Given the description of an element on the screen output the (x, y) to click on. 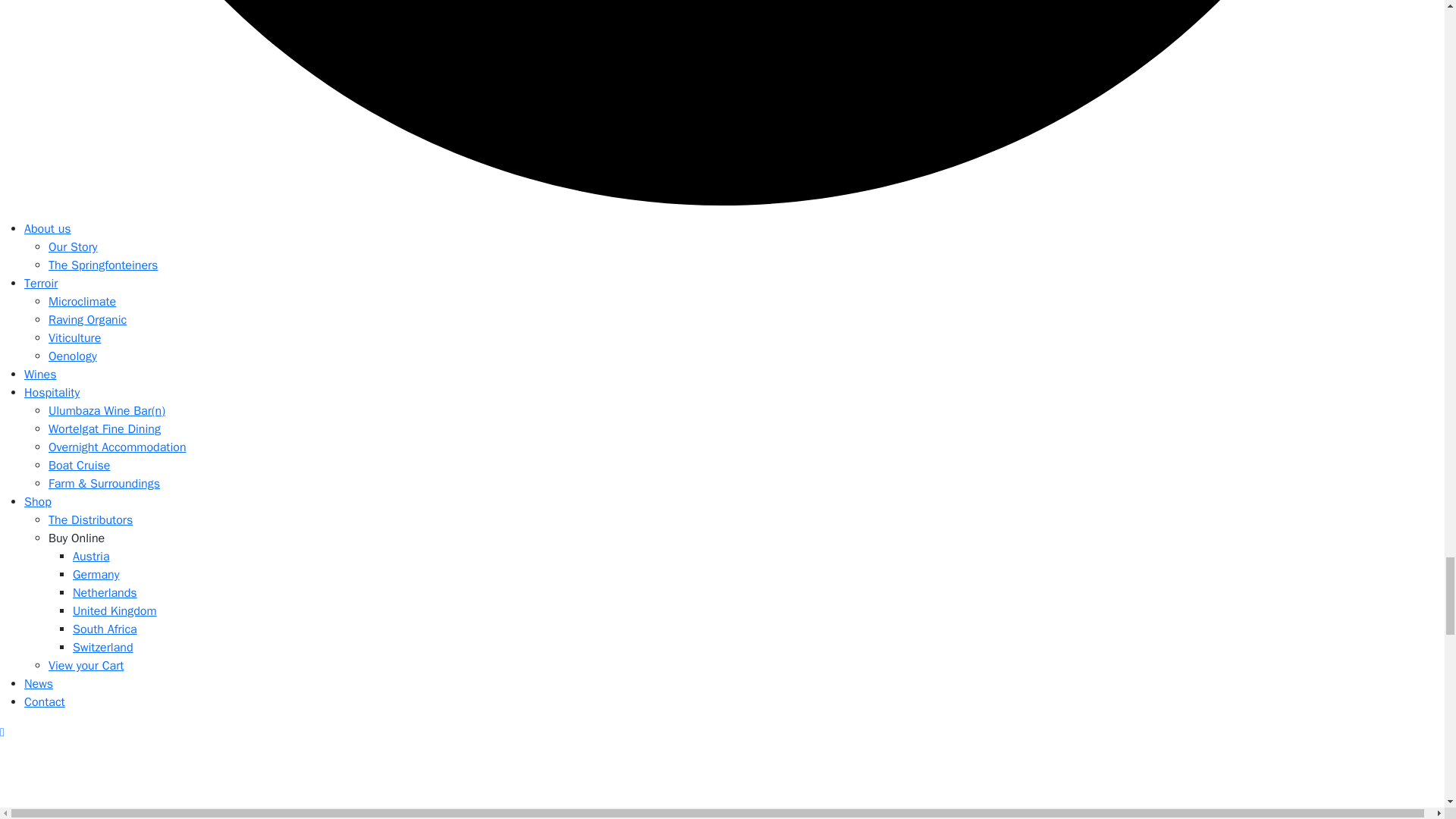
Overnight Accommodation (117, 447)
United Kingdom (114, 611)
The Distributors (90, 519)
Contact (44, 702)
About us (47, 228)
Microclimate (82, 301)
Terroir (41, 283)
View your Cart (85, 665)
Raving Organic (87, 319)
Switzerland (102, 647)
News (38, 683)
Shop (37, 501)
Buy Online (76, 538)
Viticulture (74, 337)
Hospitality (52, 392)
